Given the description of an element on the screen output the (x, y) to click on. 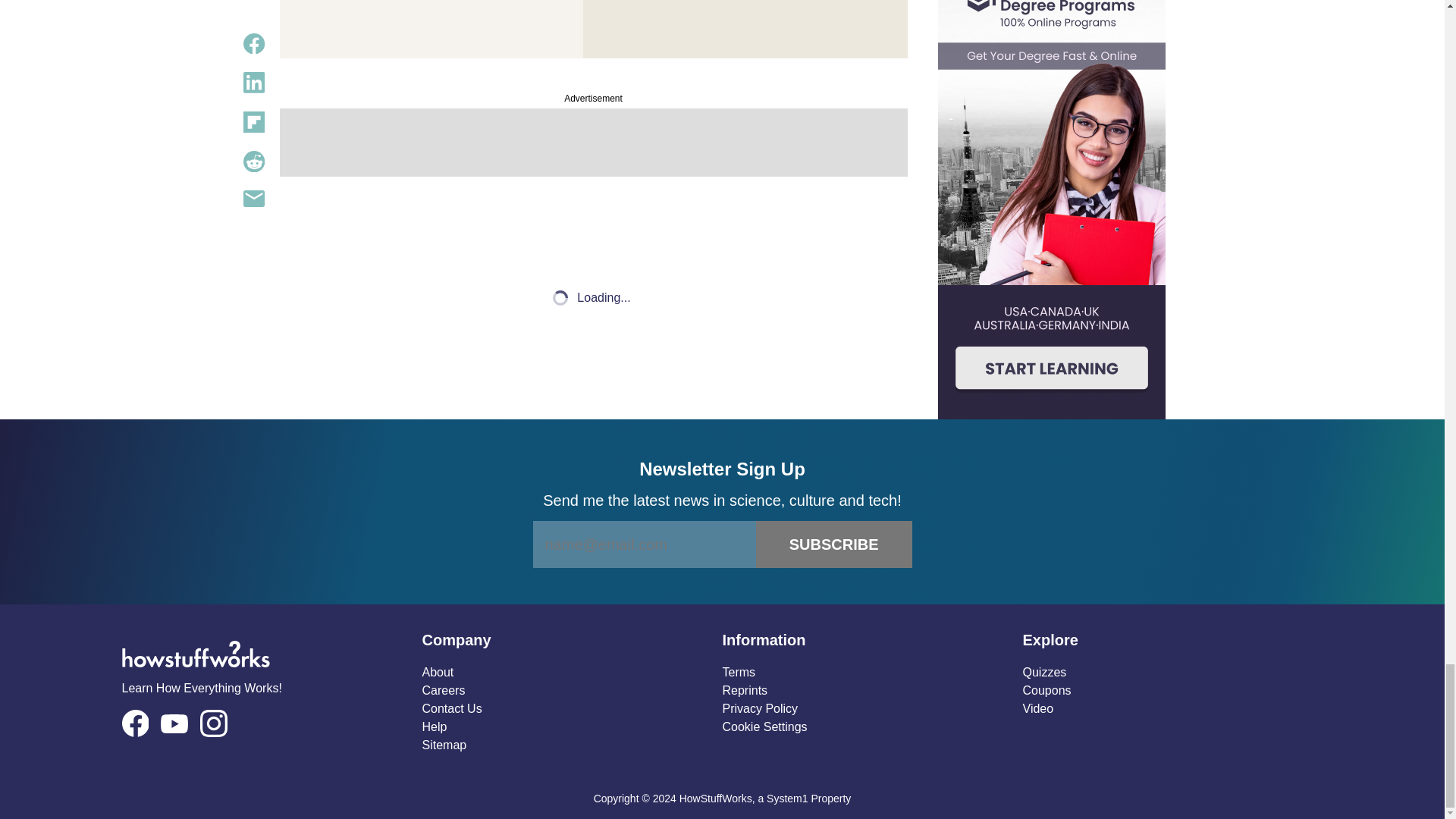
Subscribe (833, 544)
Visit HowStuffWorks on YouTube (173, 723)
Visit HowStuffWorks on Instagram (213, 723)
Visit HowStuffWorks on Facebook (134, 723)
